Given the description of an element on the screen output the (x, y) to click on. 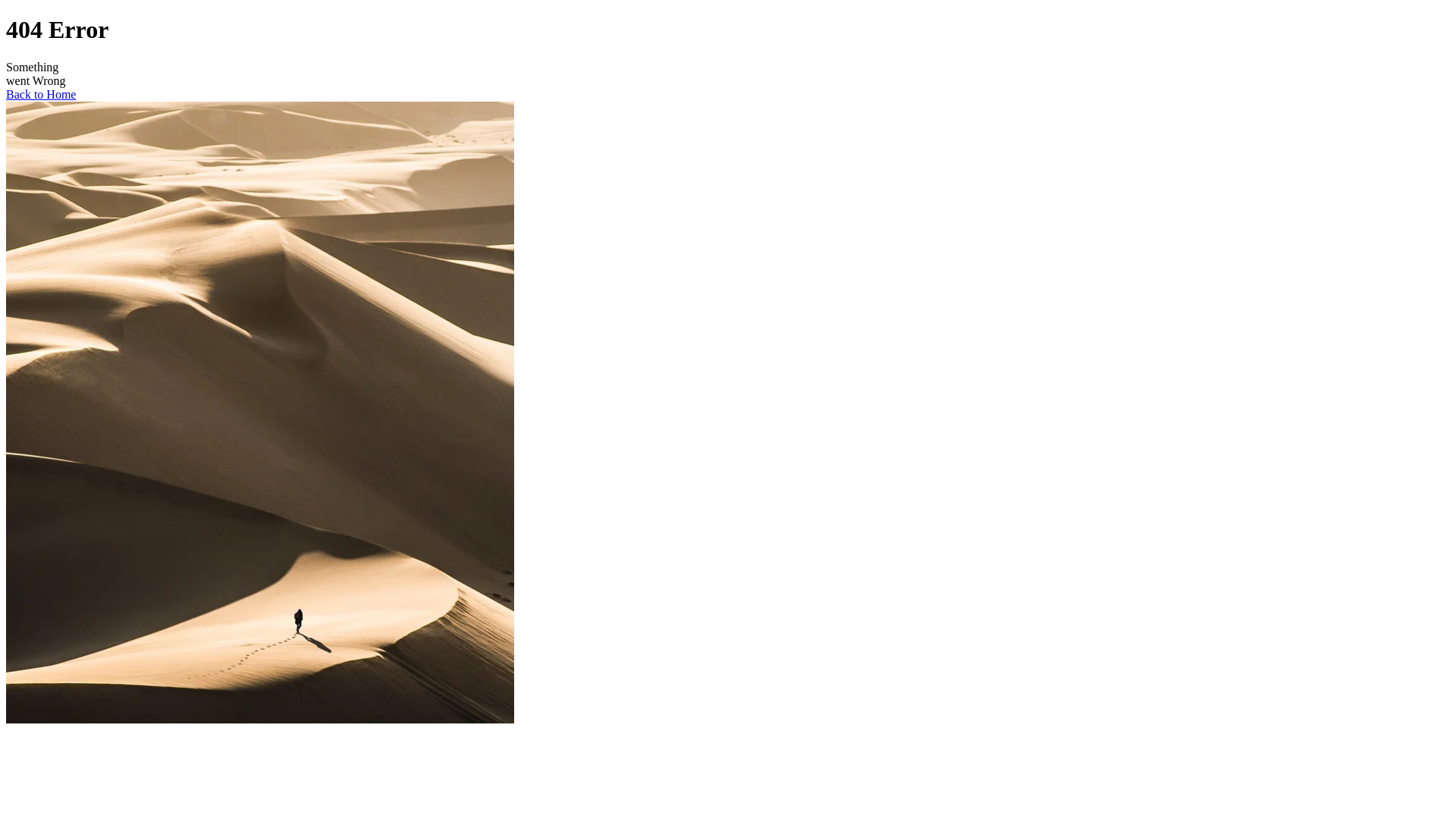
Back to Home Element type: text (40, 93)
